Given the description of an element on the screen output the (x, y) to click on. 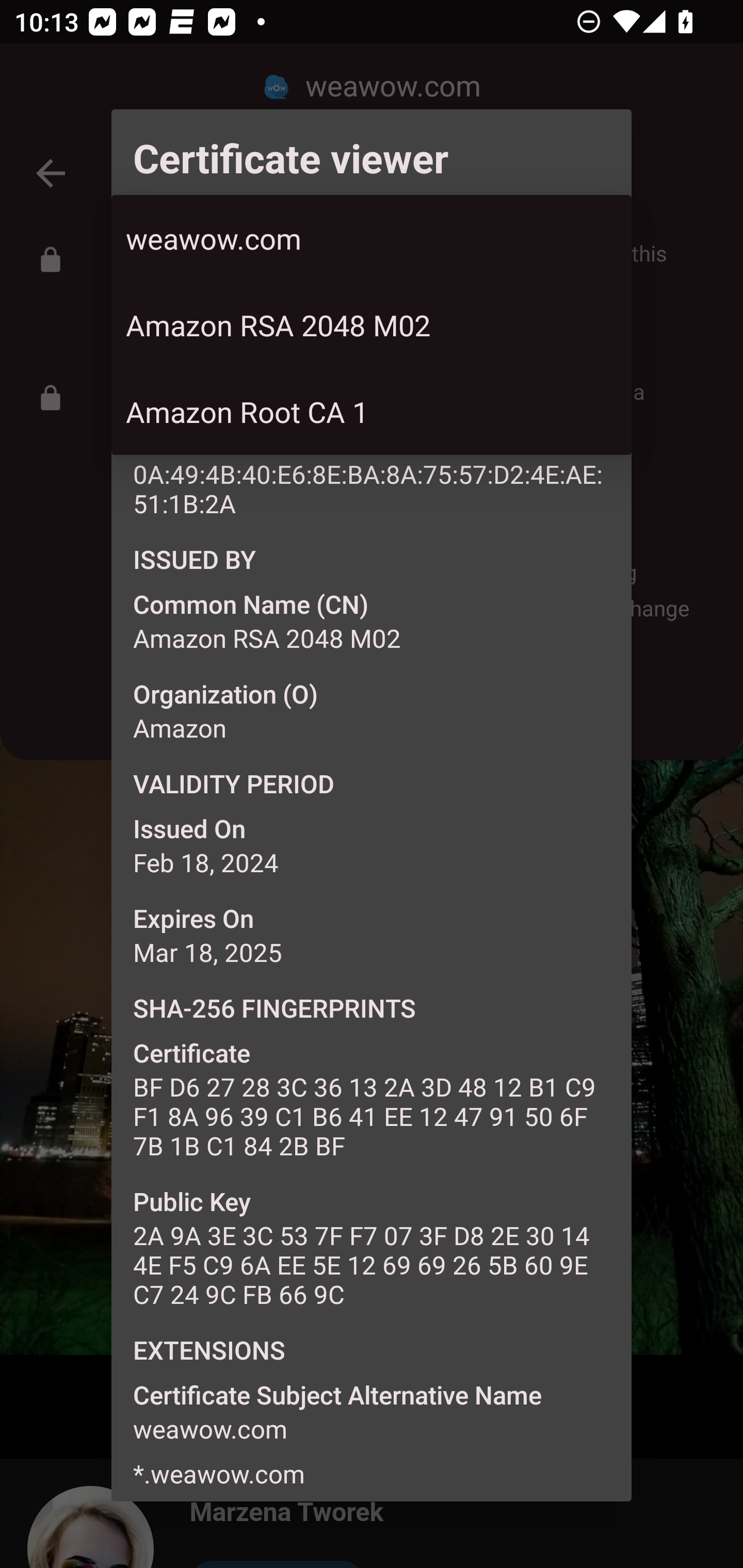
weawow.com (371, 238)
Amazon RSA 2048 M02 (371, 325)
Amazon Root CA 1 (371, 411)
